Given the description of an element on the screen output the (x, y) to click on. 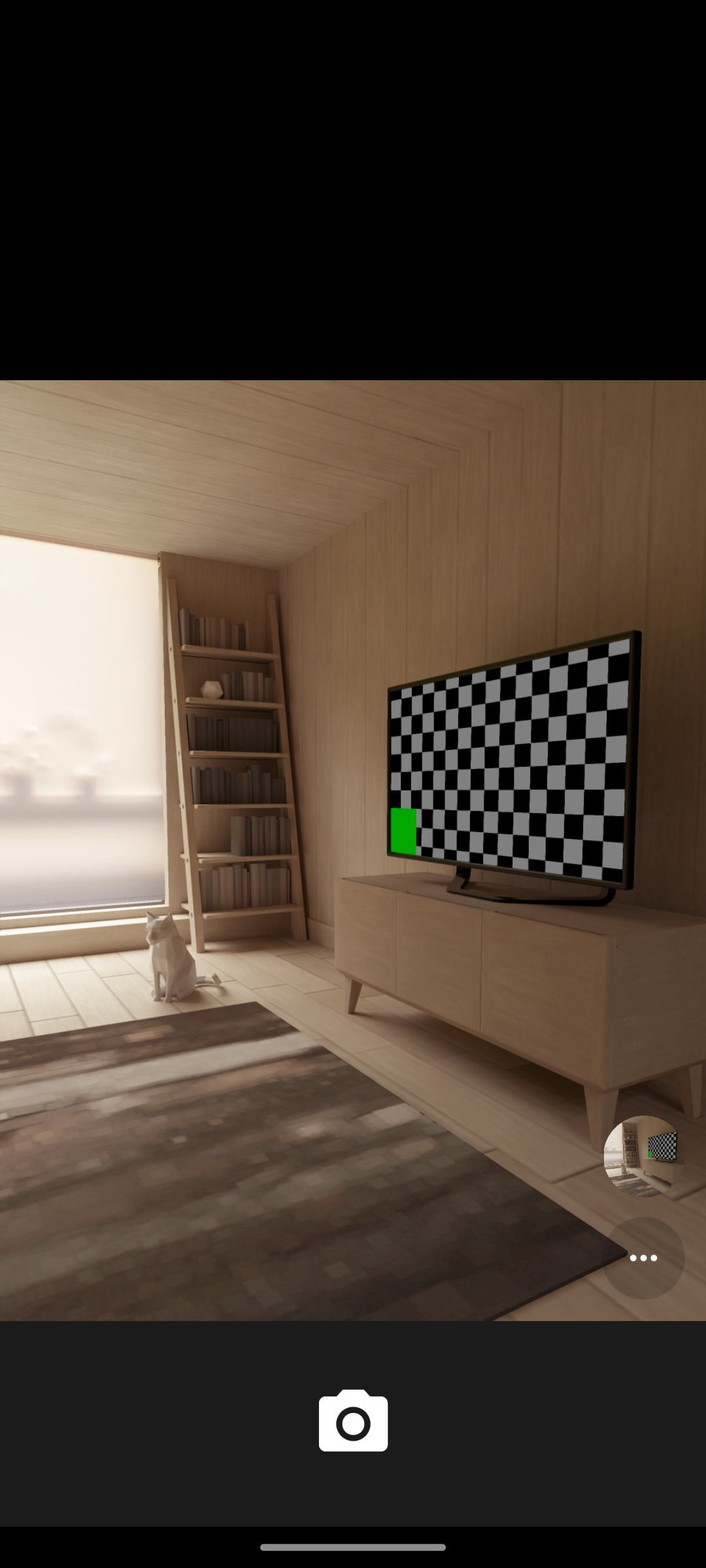
Options (643, 1257)
Shutter (353, 1423)
